Given the description of an element on the screen output the (x, y) to click on. 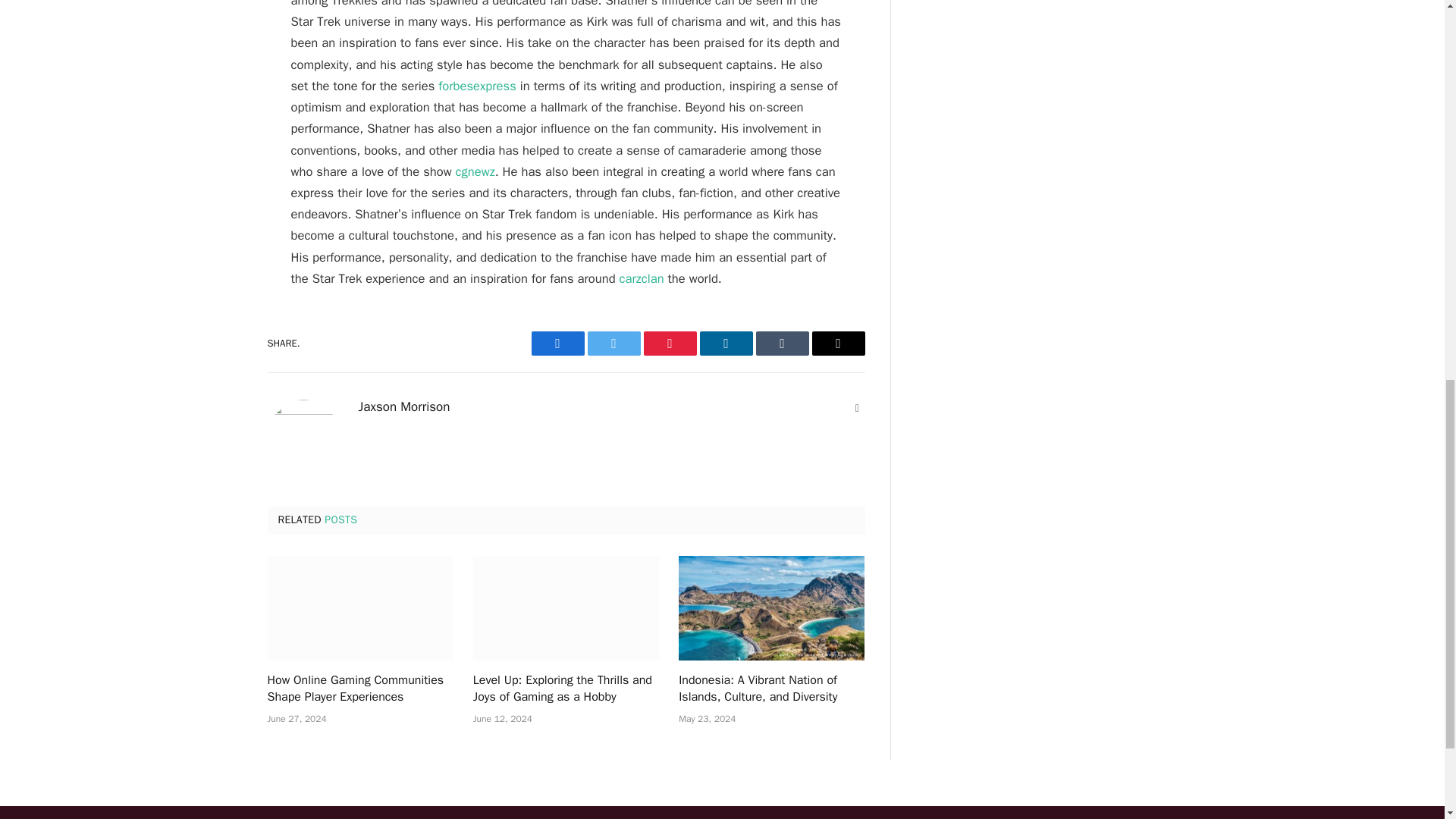
forbesexpress (476, 85)
